Given the description of an element on the screen output the (x, y) to click on. 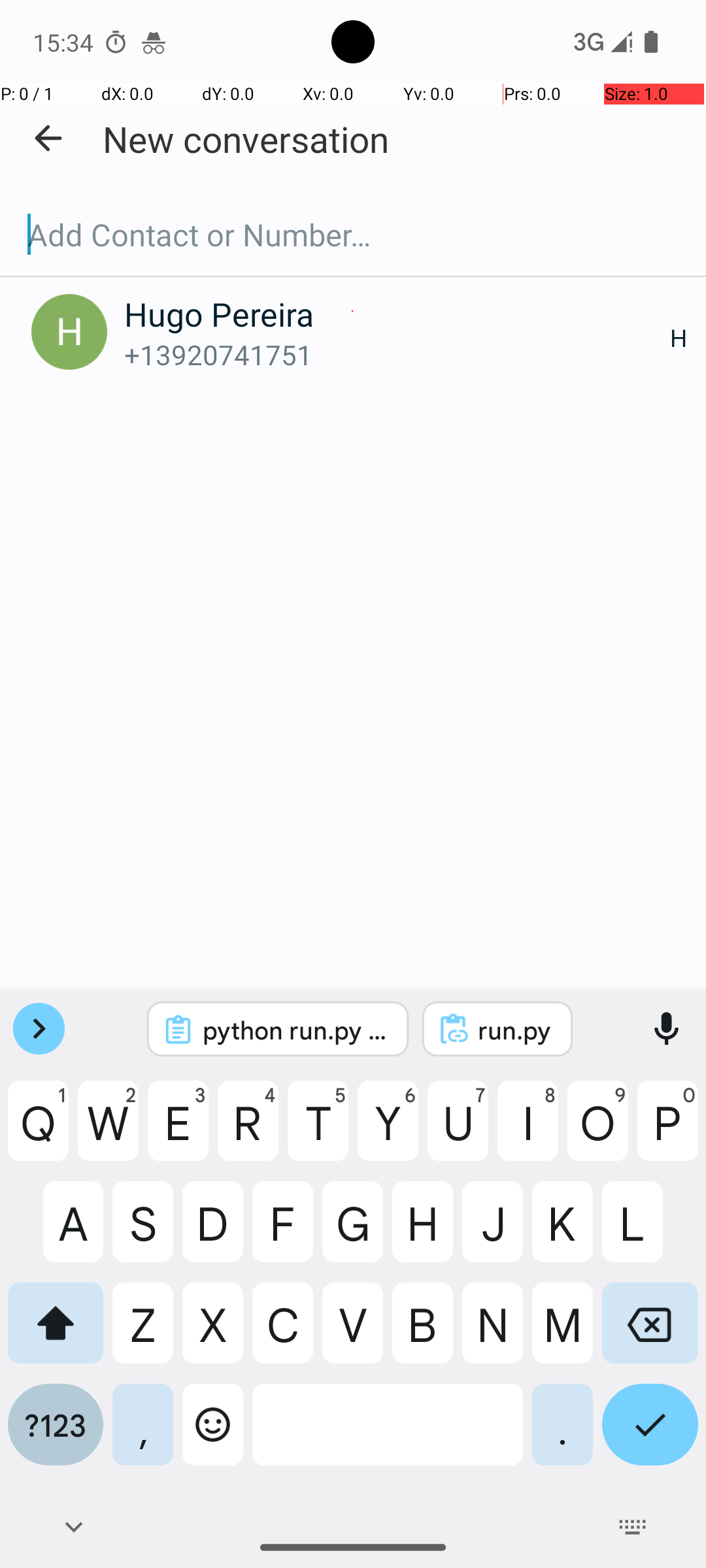
+13920741751 Element type: android.widget.TextView (397, 354)
